Given the description of an element on the screen output the (x, y) to click on. 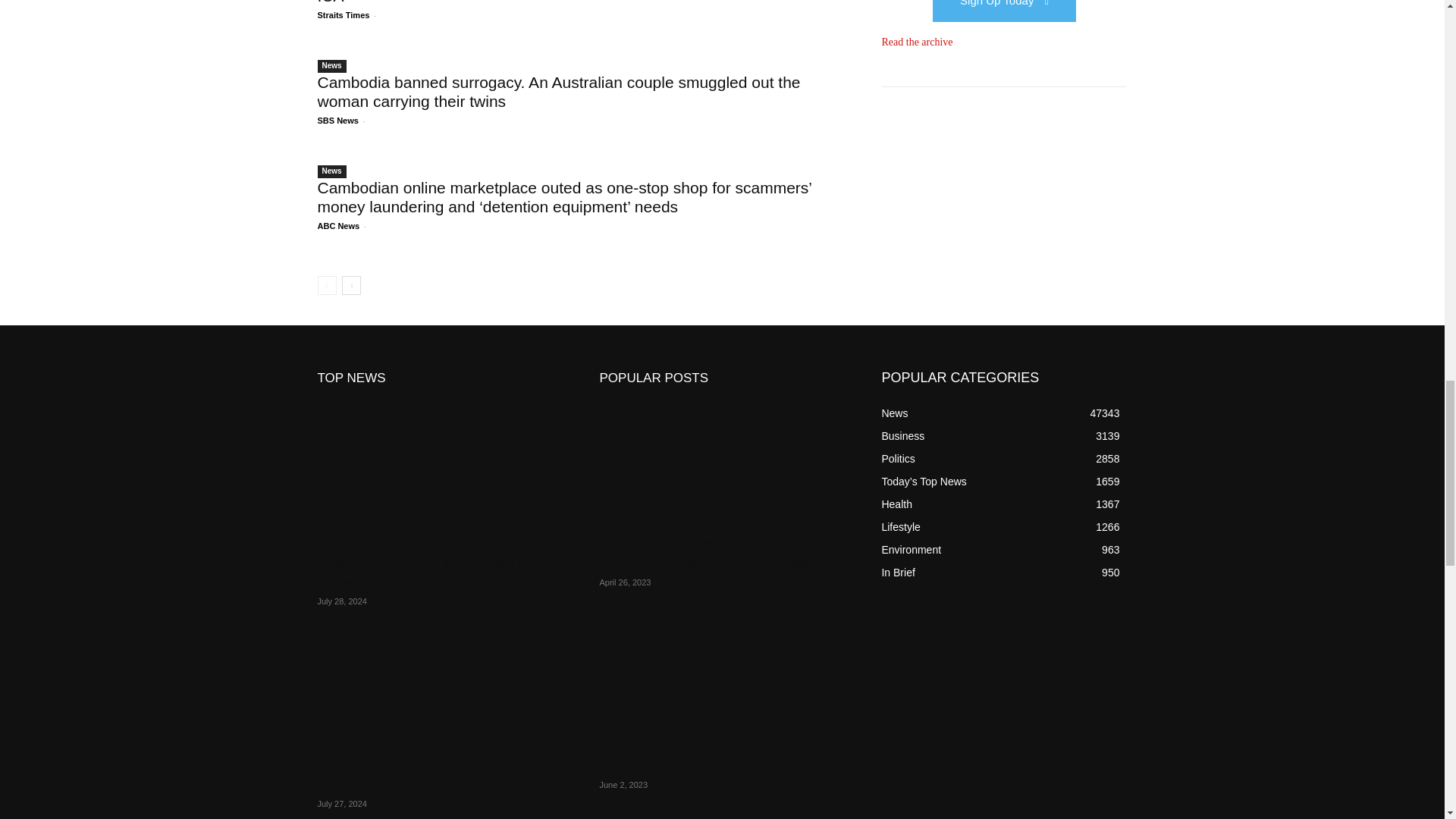
SBS News (337, 120)
News (331, 171)
News (331, 65)
Straits Times (343, 14)
